Given the description of an element on the screen output the (x, y) to click on. 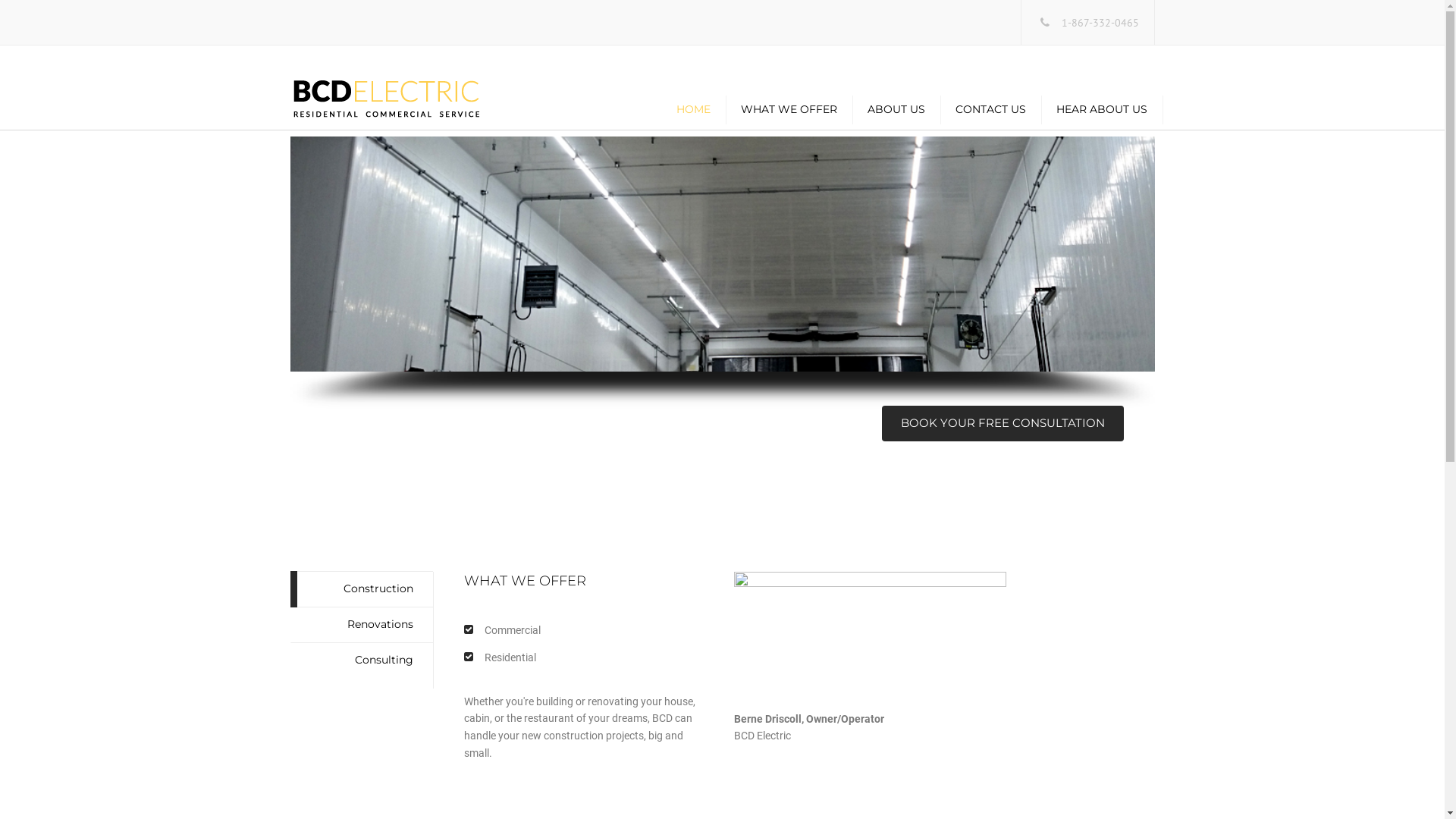
WHAT WE OFFER Element type: text (788, 108)
BOOK YOUR FREE CONSULTATION Element type: text (1002, 423)
Consulting Element type: text (361, 660)
Construction Element type: text (361, 588)
HOME Element type: text (693, 108)
Renovations Element type: text (361, 624)
CONTACT US Element type: text (990, 108)
| Element type: text (722, 731)
ABOUT US Element type: text (895, 108)
HEAR ABOUT US Element type: text (1101, 108)
